Given the description of an element on the screen output the (x, y) to click on. 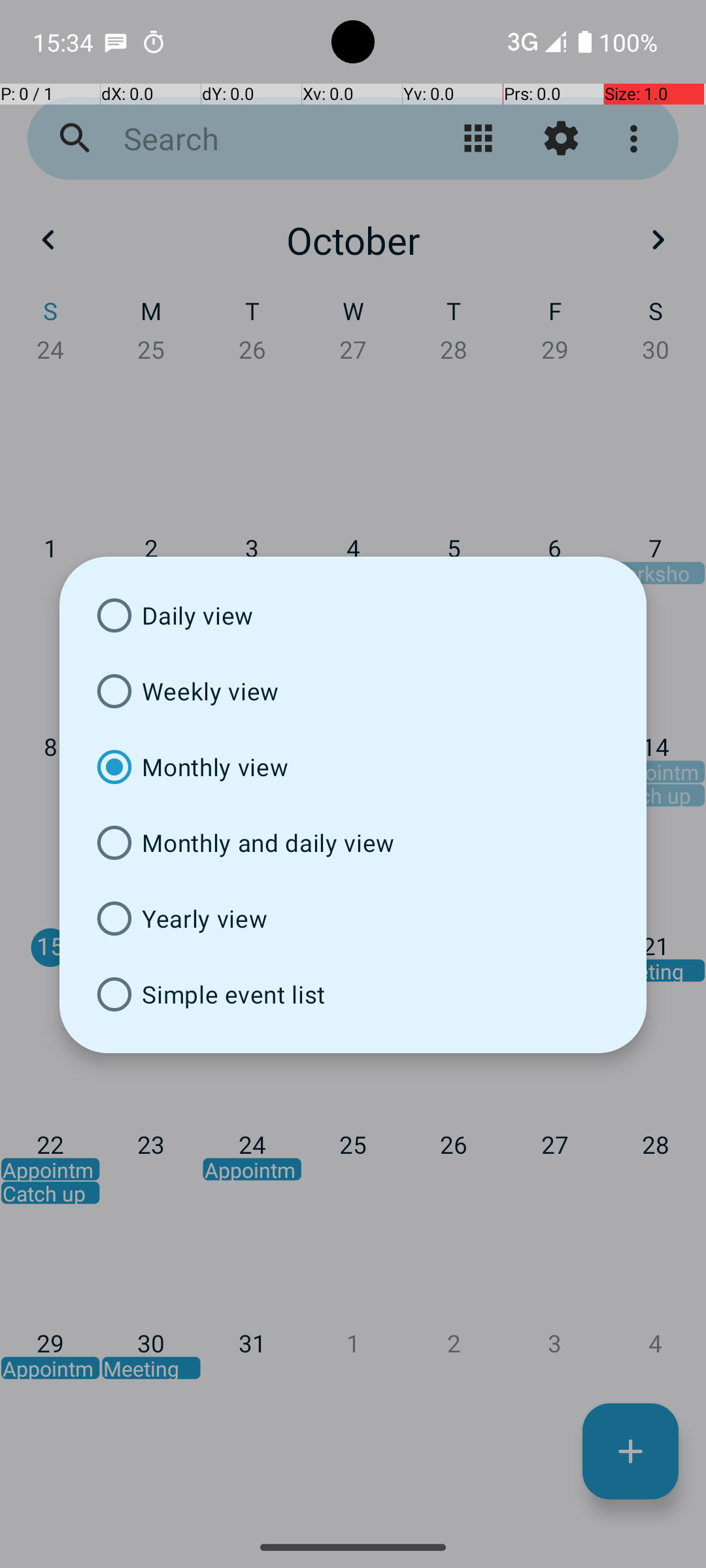
Daily view Element type: android.widget.RadioButton (352, 615)
Weekly view Element type: android.widget.RadioButton (352, 691)
Monthly view Element type: android.widget.RadioButton (352, 766)
Monthly and daily view Element type: android.widget.RadioButton (352, 842)
Yearly view Element type: android.widget.RadioButton (352, 918)
Simple event list Element type: android.widget.RadioButton (352, 994)
